Given the description of an element on the screen output the (x, y) to click on. 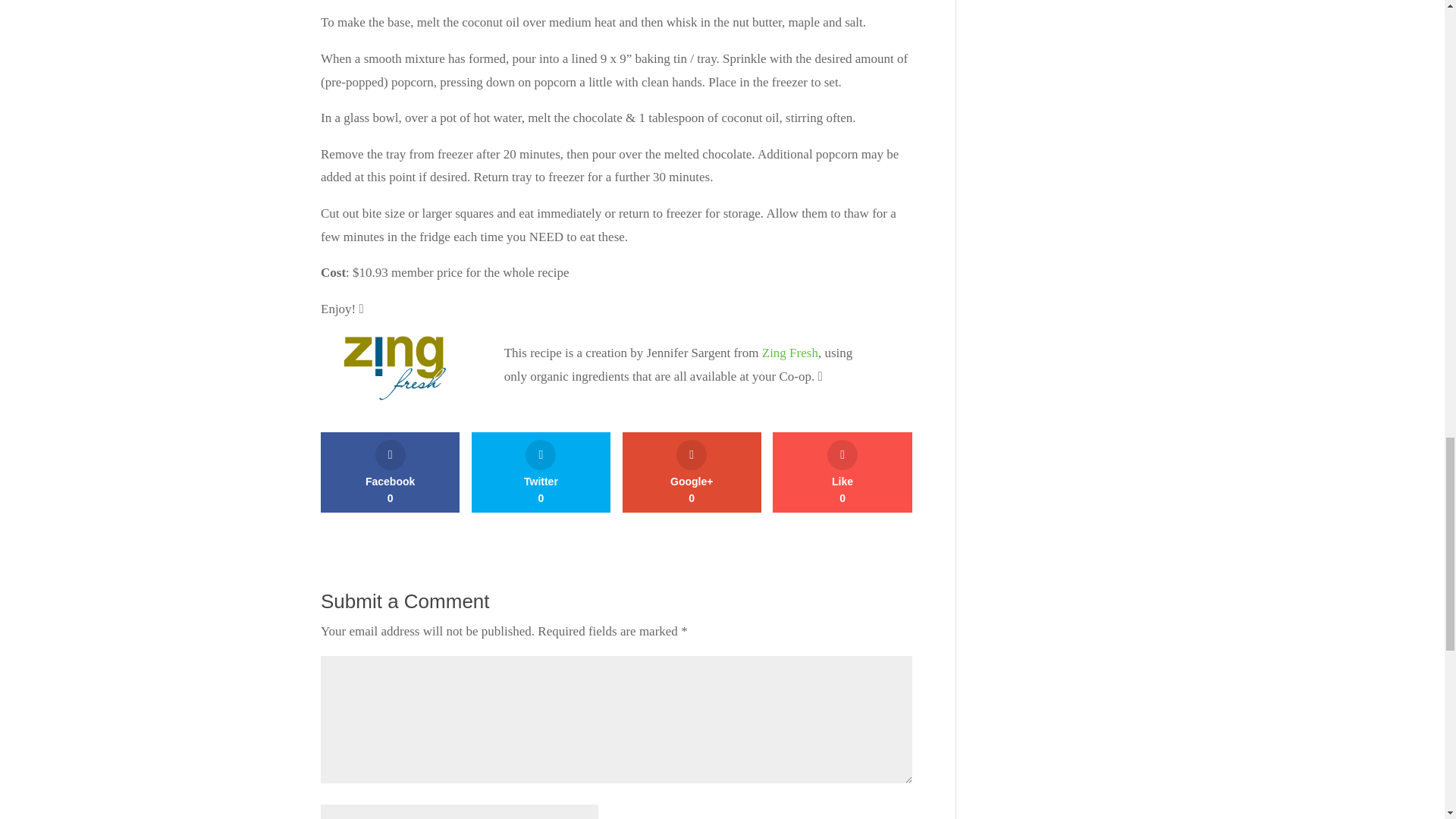
Zing Fresh (842, 472)
